Given the description of an element on the screen output the (x, y) to click on. 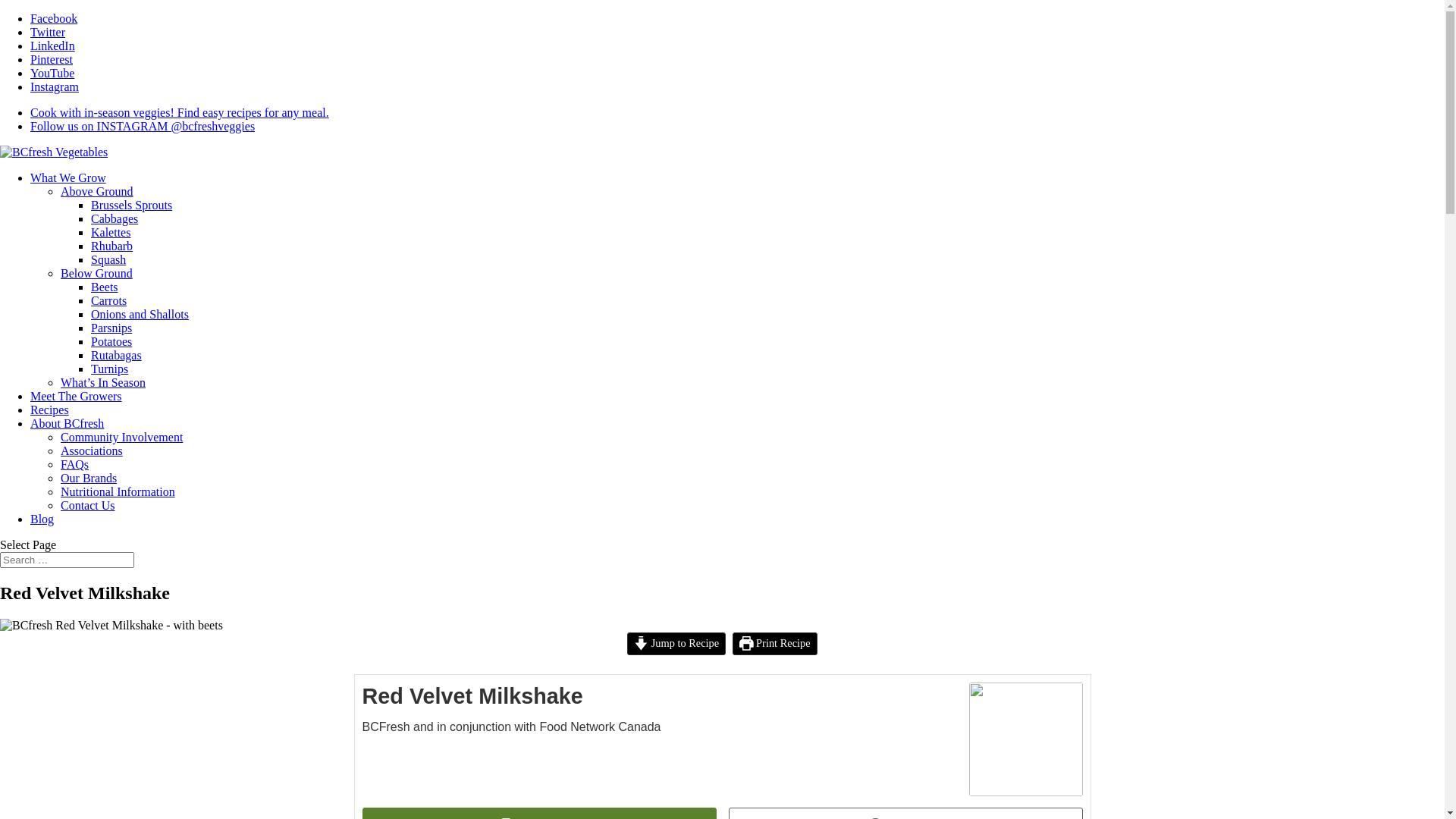
FAQs Element type: text (74, 464)
Cook with in-season veggies! Find easy recipes for any meal. Element type: text (179, 112)
Search for: Element type: hover (67, 559)
Brussels Sprouts Element type: text (131, 204)
Jump to Recipe Element type: text (676, 643)
Meet The Growers Element type: text (76, 395)
YouTube Element type: text (52, 72)
Beets Element type: text (104, 286)
Turnips Element type: text (109, 368)
Nutritional Information Element type: text (117, 491)
Facebook Element type: text (53, 18)
Our Brands Element type: text (88, 477)
Blog Element type: text (41, 518)
Carrots Element type: text (108, 300)
Onions and Shallots Element type: text (139, 313)
Follow us on INSTAGRAM @bcfreshveggies Element type: text (142, 125)
Cabbages Element type: text (114, 218)
Recipes Element type: text (49, 409)
Associations Element type: text (91, 450)
Kalettes Element type: text (110, 231)
Potatoes Element type: text (111, 341)
Squash Element type: text (108, 259)
Above Ground Element type: text (96, 191)
Twitter Element type: text (47, 31)
Community Involvement Element type: text (121, 436)
Parsnips Element type: text (111, 327)
What We Grow Element type: text (68, 177)
Rutabagas Element type: text (116, 354)
Pinterest Element type: text (51, 59)
Below Ground Element type: text (96, 272)
Print Recipe Element type: text (774, 643)
About BCfresh Element type: text (66, 423)
Contact Us Element type: text (87, 504)
Instagram Element type: text (54, 86)
Rhubarb Element type: text (111, 245)
LinkedIn Element type: text (52, 45)
